Given the description of an element on the screen output the (x, y) to click on. 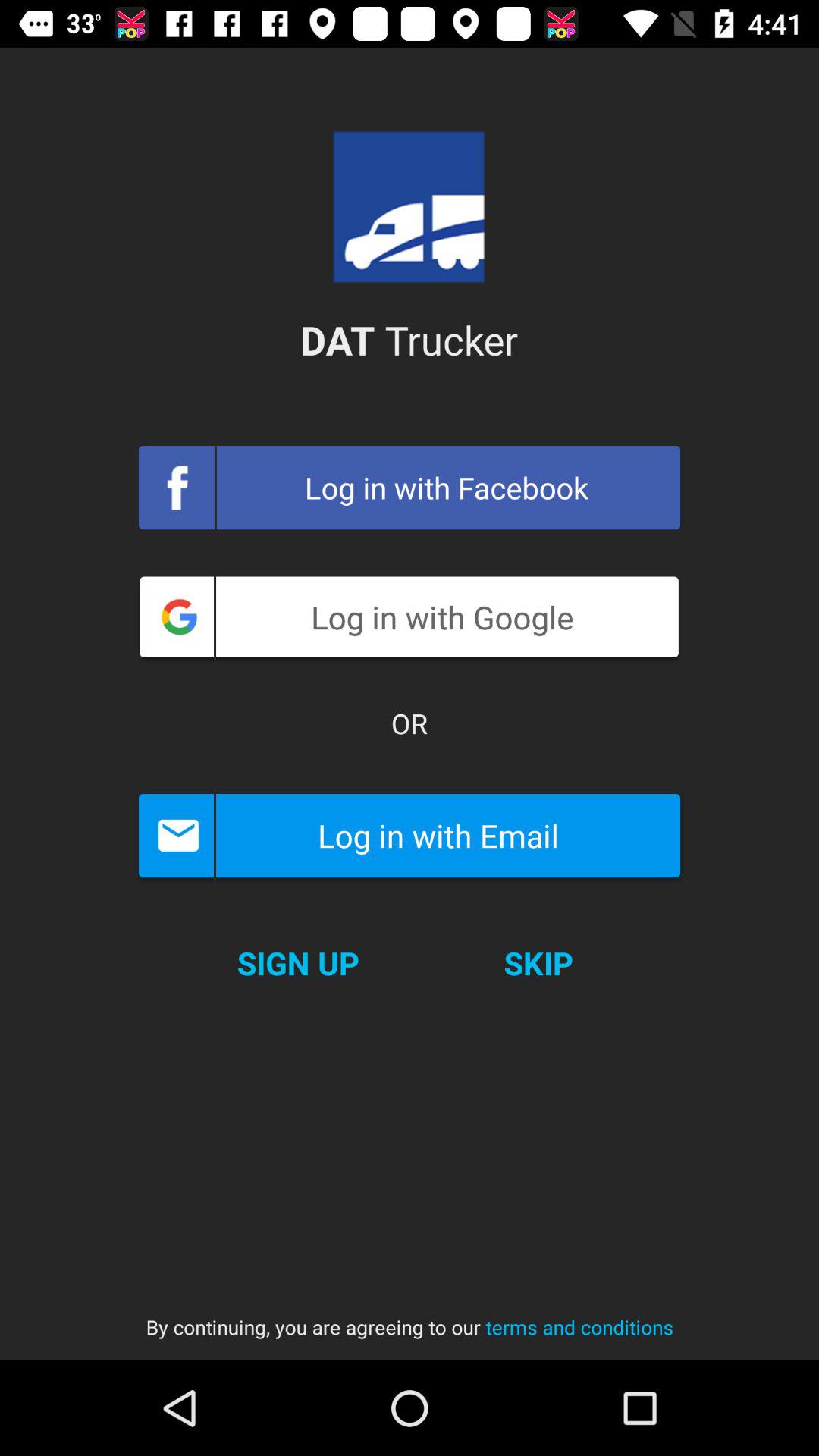
turn on or (409, 723)
